Given the description of an element on the screen output the (x, y) to click on. 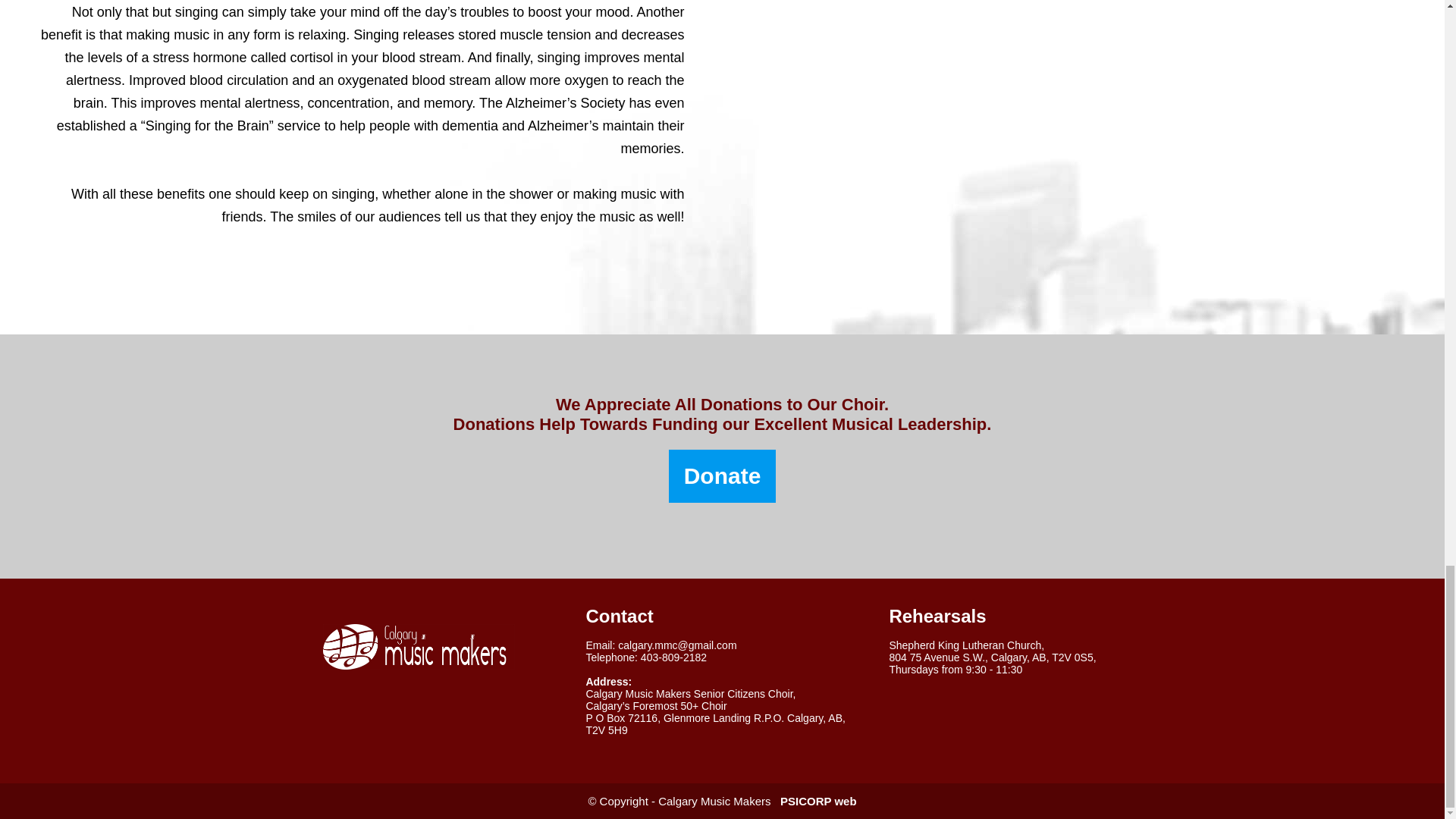
403-809-2182 (673, 657)
Donate (722, 475)
PSICORP web (818, 800)
